Given the description of an element on the screen output the (x, y) to click on. 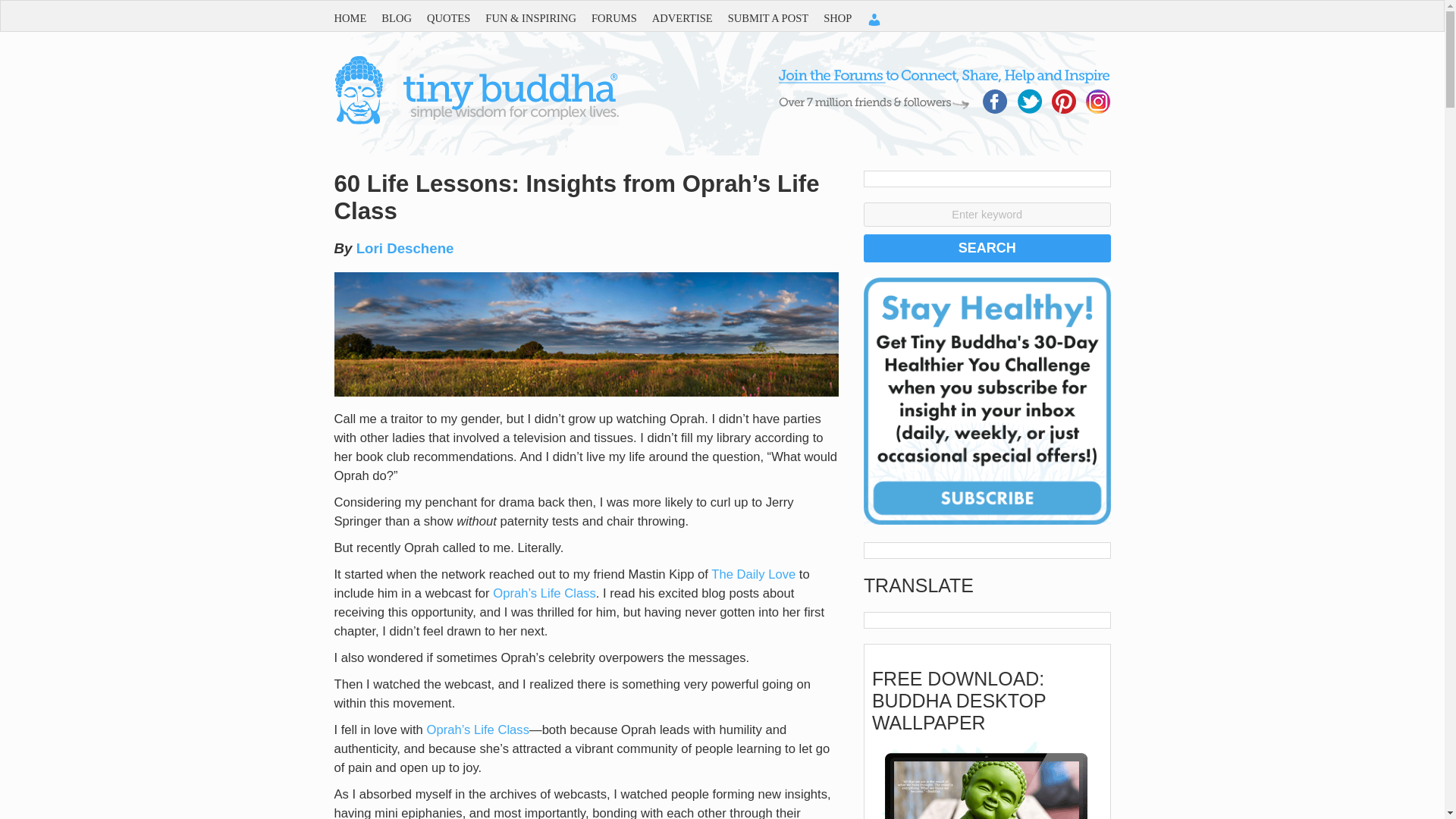
QUOTES (455, 18)
Search (986, 248)
SHOP (845, 18)
SUBMIT A POST (776, 18)
Landscape (585, 333)
Lori Deschene (405, 248)
Enter keyword (986, 214)
BLOG (403, 18)
Enter keyword (986, 214)
The Daily Love (752, 574)
HOME (357, 18)
Search (986, 248)
Posts by Lori Deschene (405, 248)
Tiny Buddha (475, 121)
ADVERTISE (690, 18)
